Given the description of an element on the screen output the (x, y) to click on. 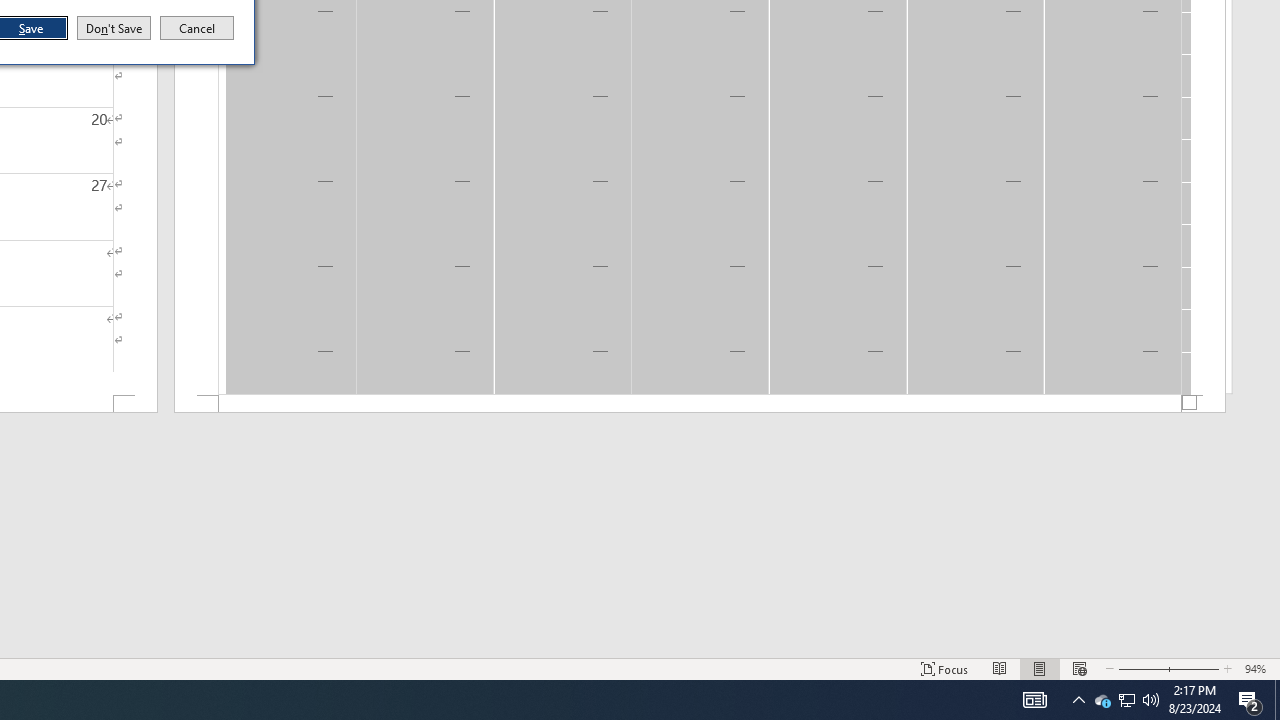
Don't Save (113, 27)
Action Center, 2 new notifications (1250, 699)
Notification Chevron (1078, 699)
Cancel (197, 27)
Show desktop (1277, 699)
Q2790: 100% (1102, 699)
